Given the description of an element on the screen output the (x, y) to click on. 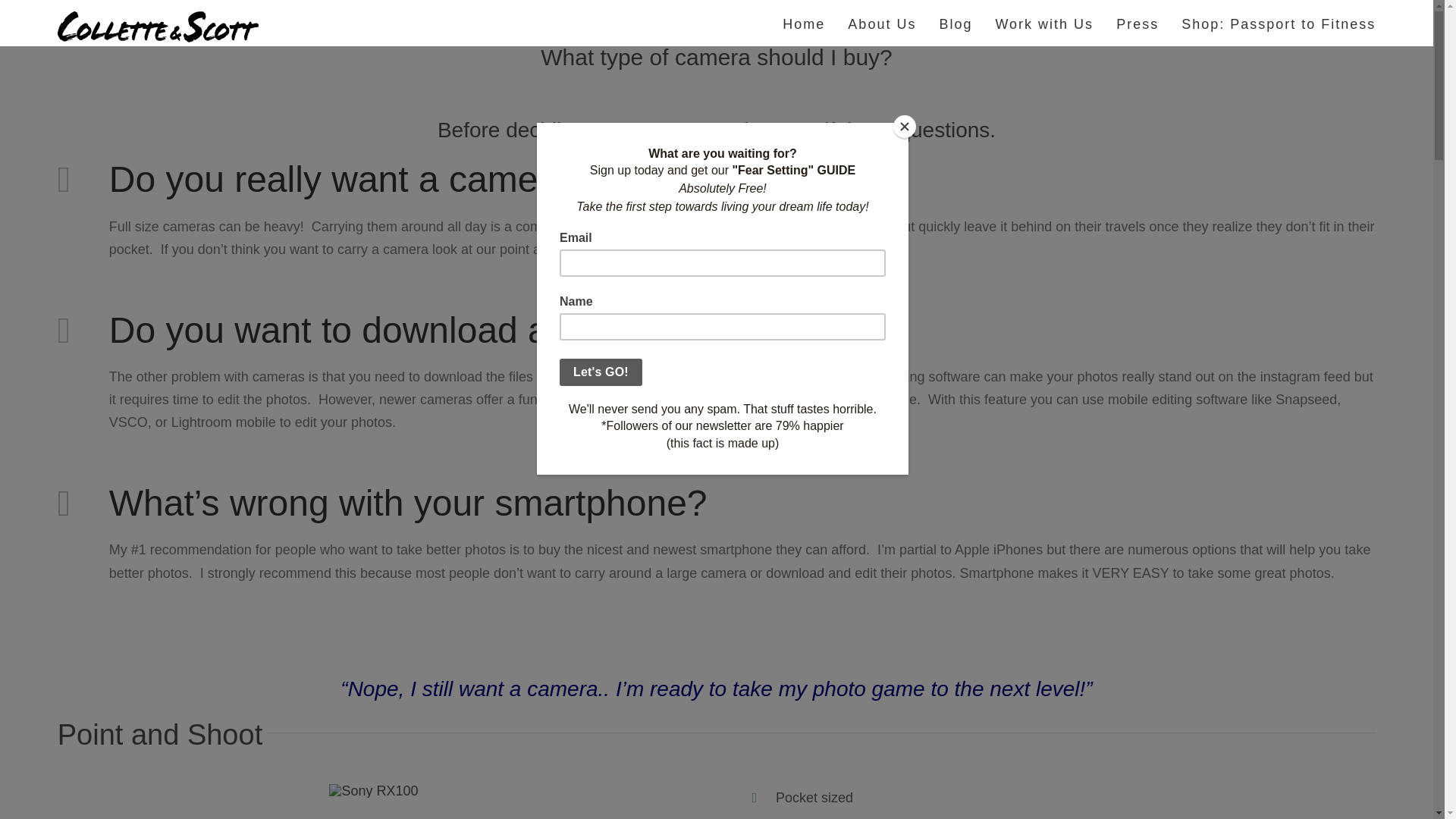
Press (1137, 22)
Work with Us (1043, 22)
Home (804, 22)
About Us (881, 22)
Shop: Passport to Fitness (1277, 22)
